Given the description of an element on the screen output the (x, y) to click on. 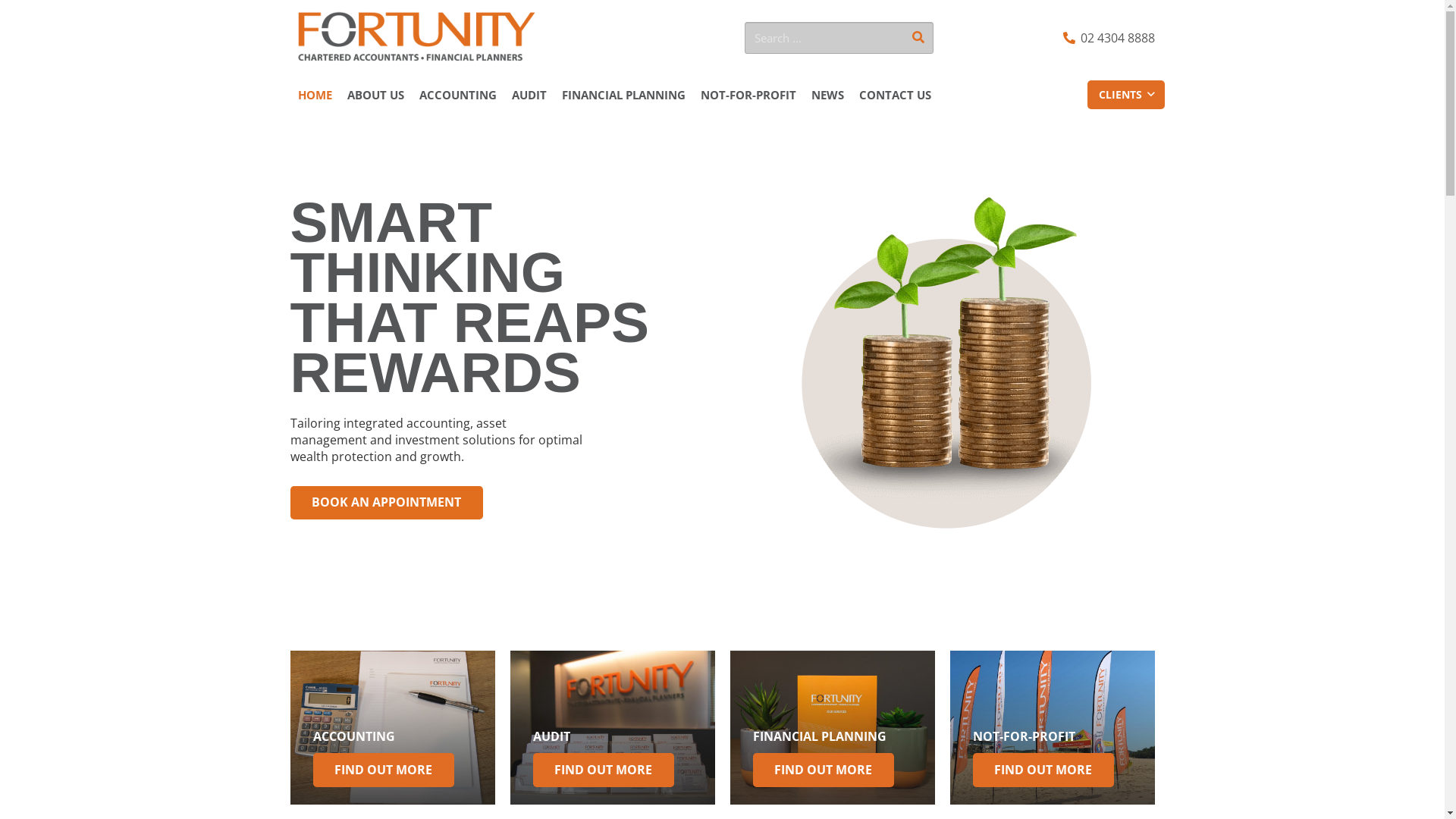
NEWS Element type: text (827, 94)
FIND OUT MORE Element type: text (1042, 770)
AUDIT Element type: text (550, 736)
CONTACT US Element type: text (894, 94)
FIND OUT MORE Element type: text (823, 770)
ACCOUNTING Element type: text (353, 736)
FINANCIAL PLANNING Element type: text (622, 94)
02 4304 8888 Element type: text (1108, 37)
CLIENTS Element type: text (1125, 94)
NOT-FOR-PROFIT Element type: text (1023, 736)
ABOUT US Element type: text (375, 94)
ACCOUNTING Element type: text (457, 94)
FIND OUT MORE Element type: text (603, 770)
HOME Element type: text (313, 94)
FIND OUT MORE Element type: text (383, 770)
BOOK AN APPOINTMENT Element type: text (386, 503)
AUDIT Element type: text (528, 94)
FINANCIAL PLANNING Element type: text (818, 736)
NOT-FOR-PROFIT Element type: text (748, 94)
